Given the description of an element on the screen output the (x, y) to click on. 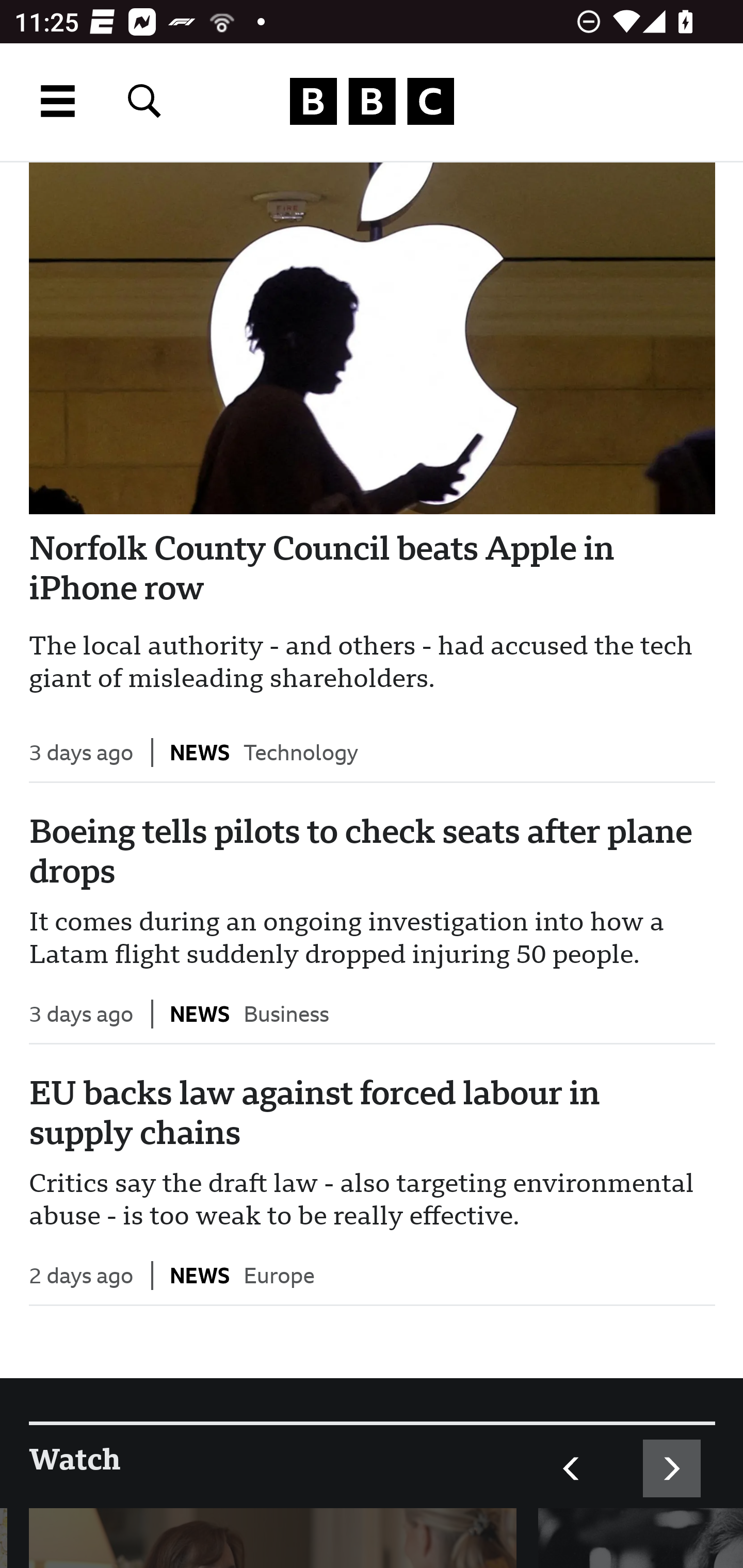
www.bbc (371, 101)
